Given the description of an element on the screen output the (x, y) to click on. 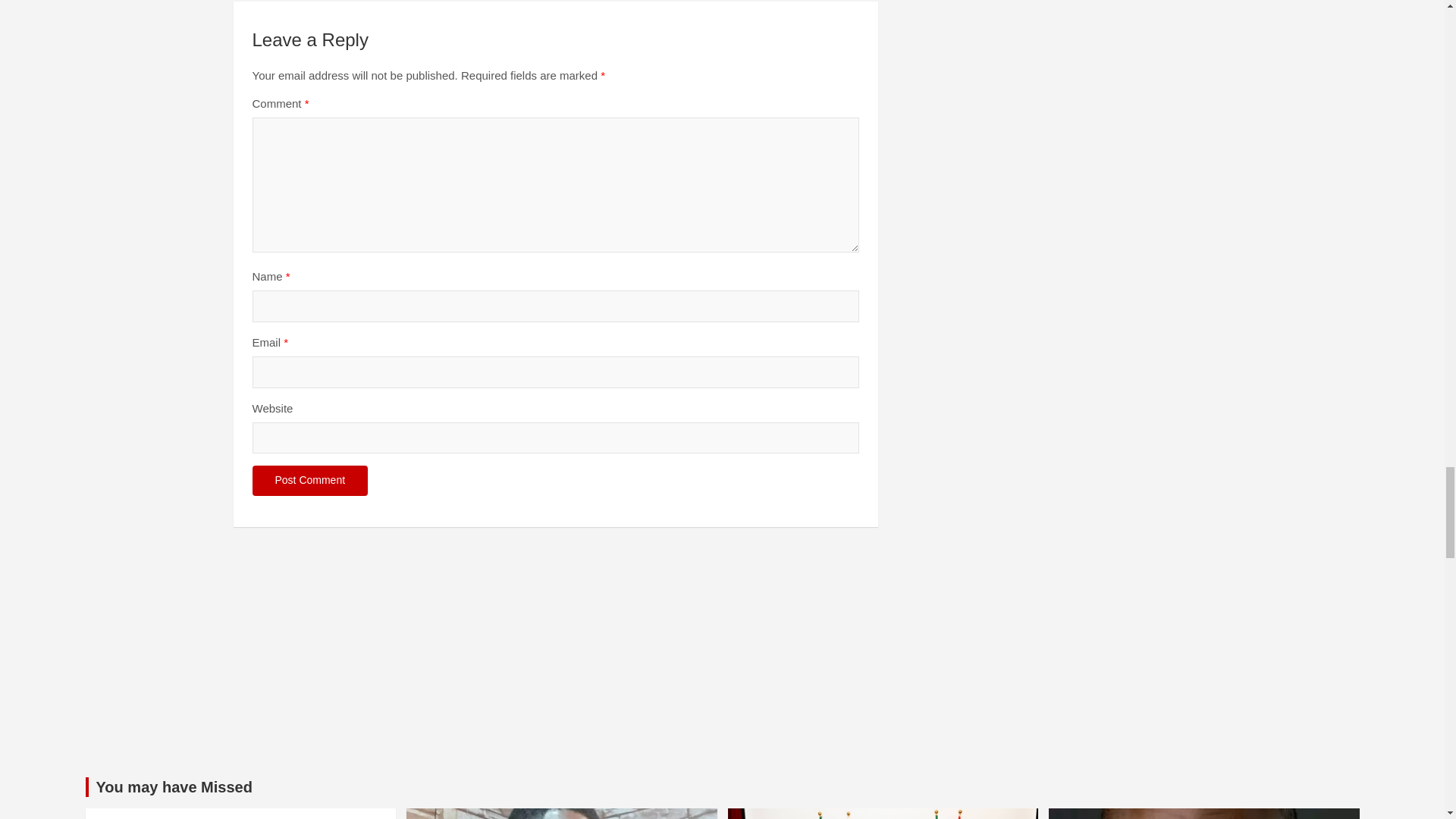
Post Comment (309, 481)
Post Comment (309, 481)
